Given the description of an element on the screen output the (x, y) to click on. 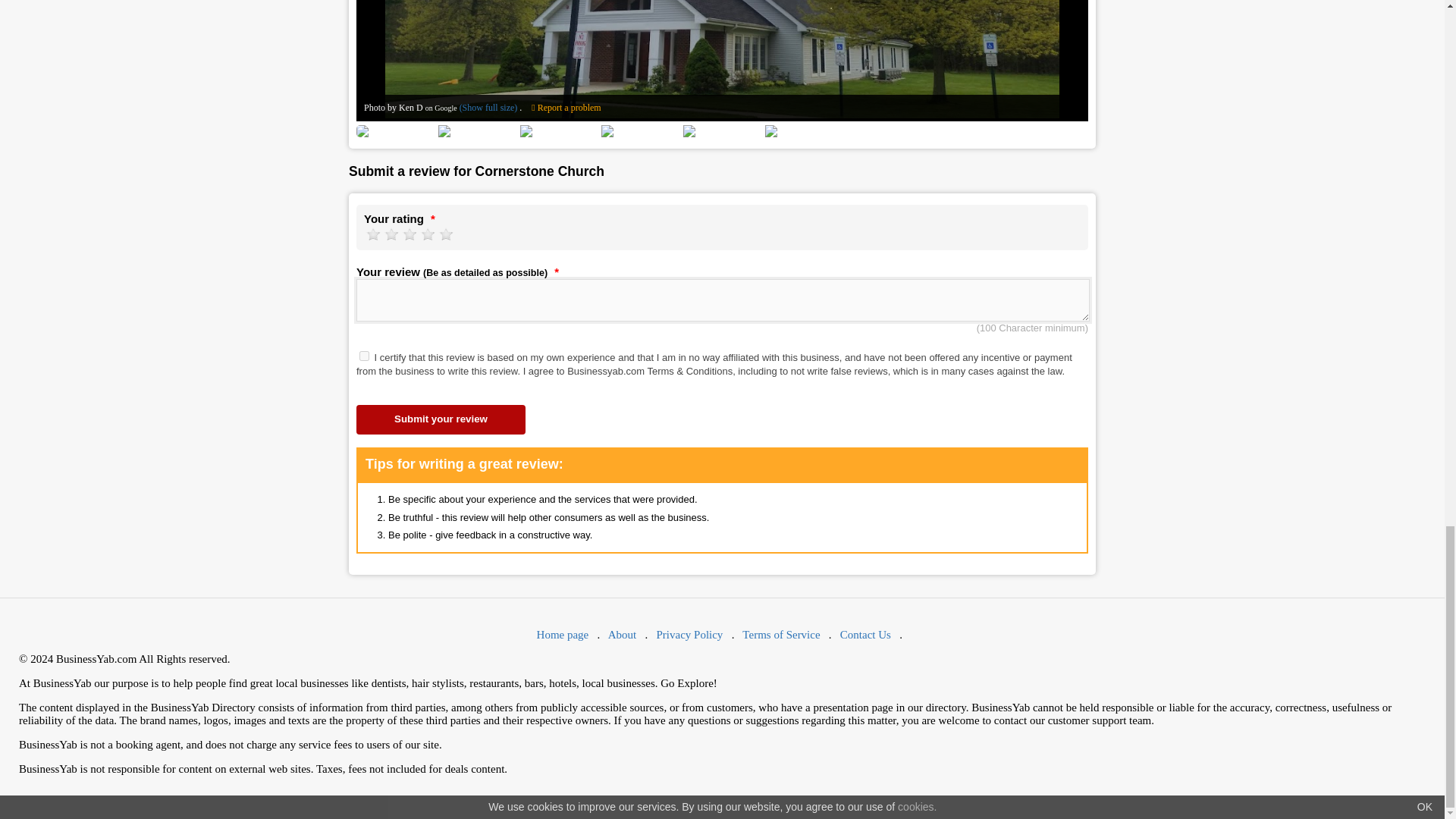
Home page (563, 634)
Submit your review (440, 419)
true (364, 356)
